Given the description of an element on the screen output the (x, y) to click on. 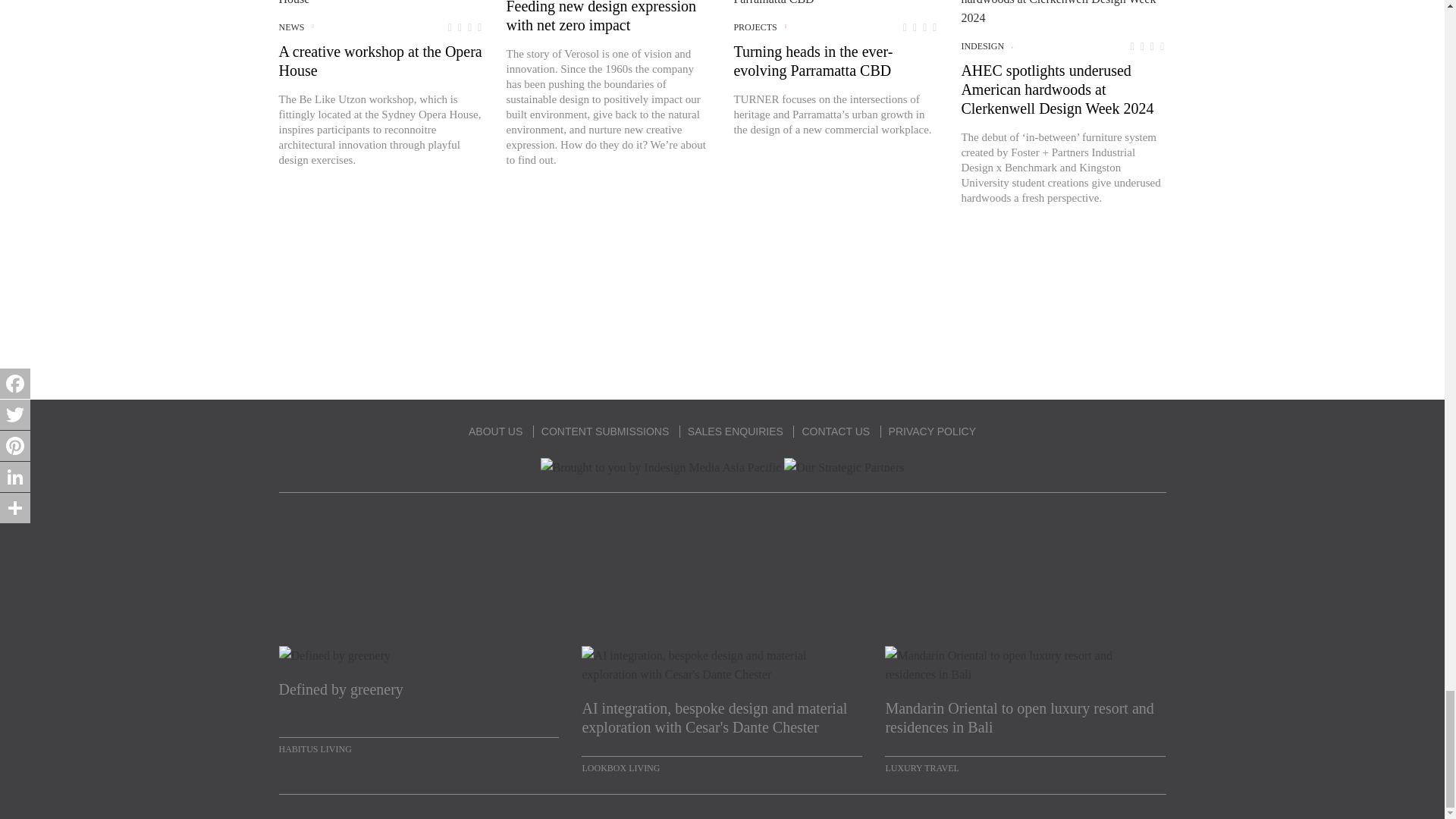
A creative workshop at the Opera House (381, 4)
Turning heads in the ever-evolving Parramatta CBD (835, 4)
